Given the description of an element on the screen output the (x, y) to click on. 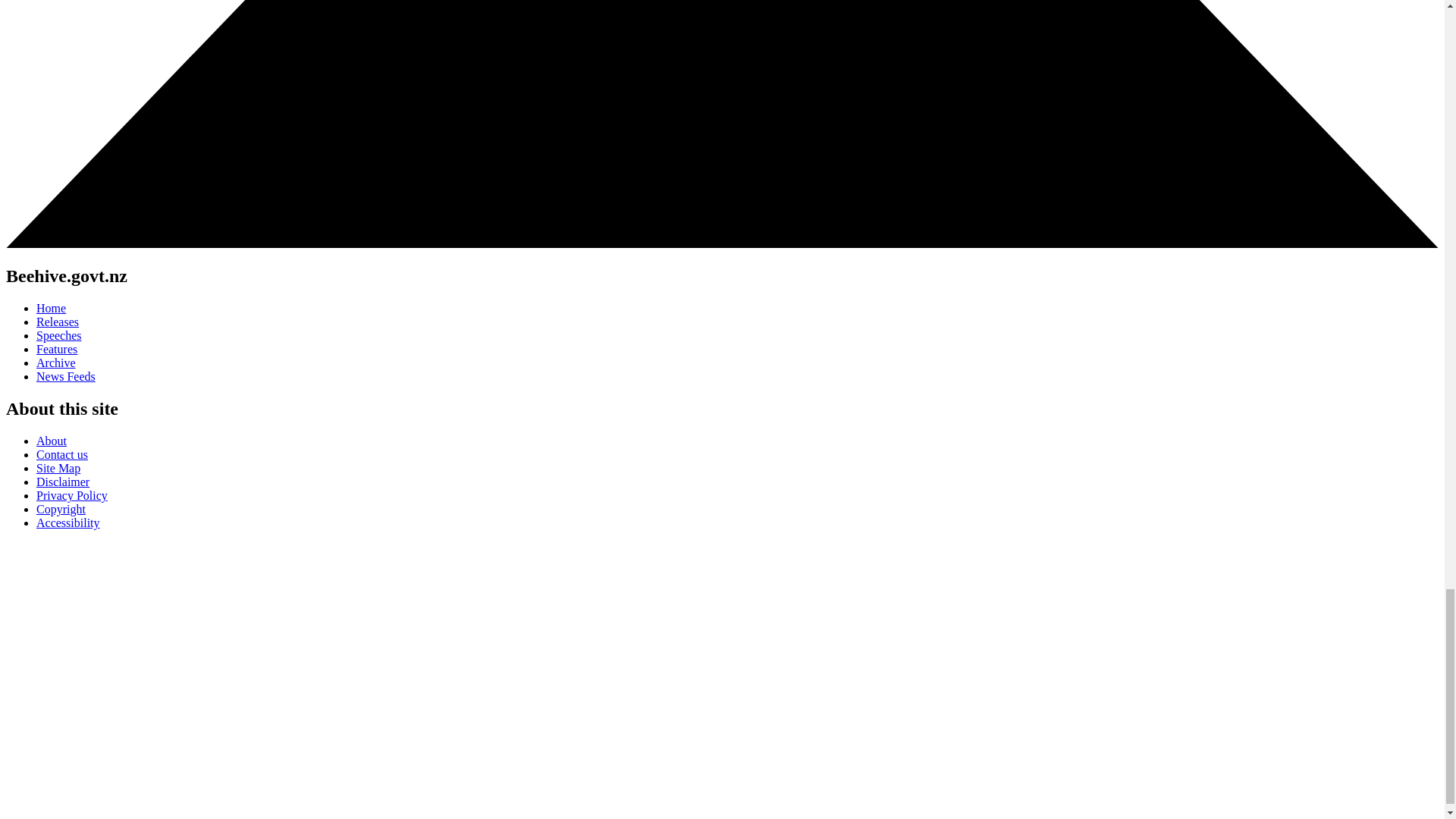
Contact us (61, 454)
Speeches (58, 335)
Features (56, 349)
About (51, 440)
Archive (55, 362)
Releases (57, 321)
News Feeds (66, 376)
Home (50, 308)
Site Map (58, 468)
